Given the description of an element on the screen output the (x, y) to click on. 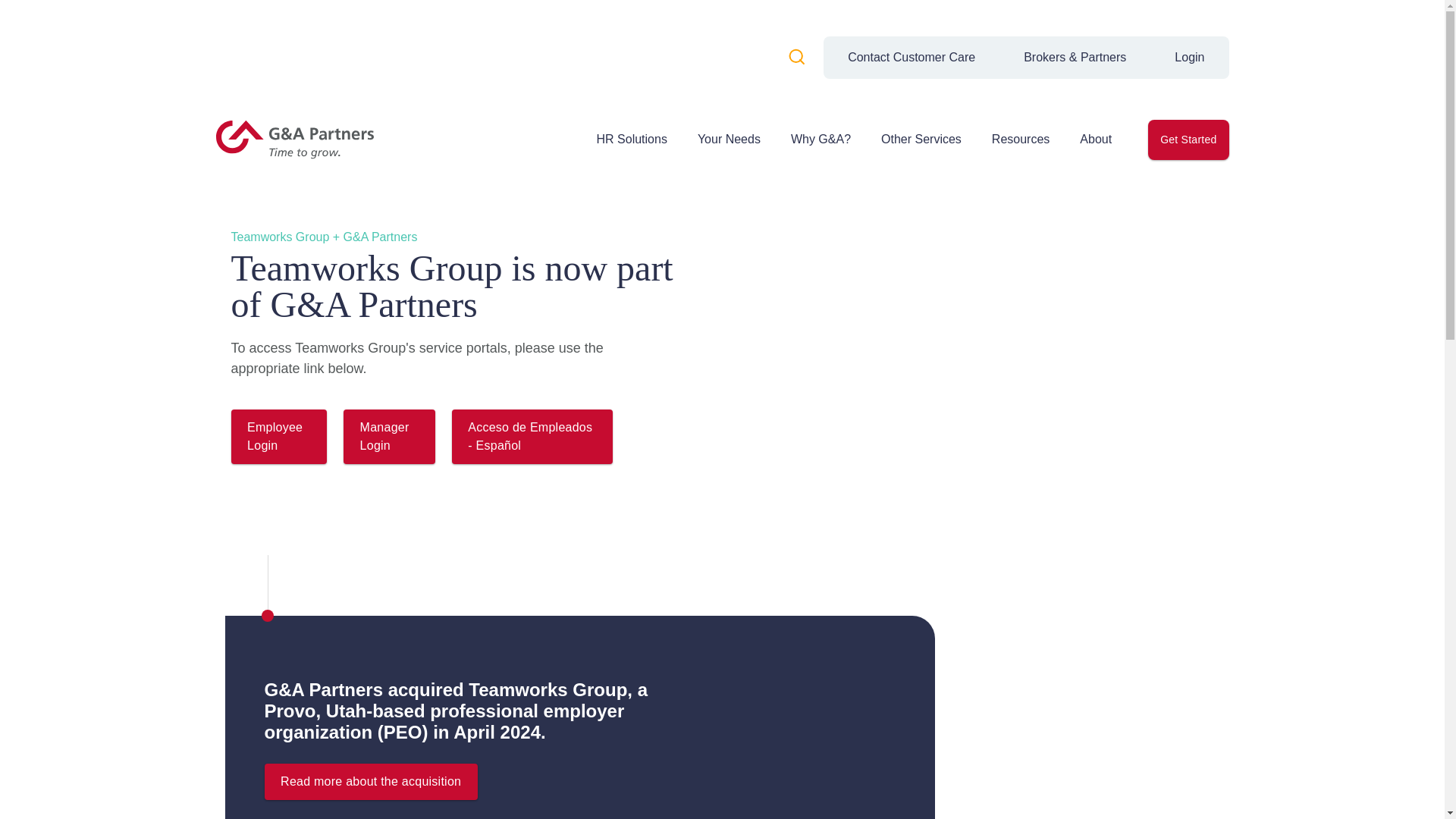
Other Services (920, 139)
Login (1189, 57)
Contact Customer Care (911, 57)
Resources (1020, 139)
Your Needs (728, 139)
HR Solutions (630, 139)
